Given the description of an element on the screen output the (x, y) to click on. 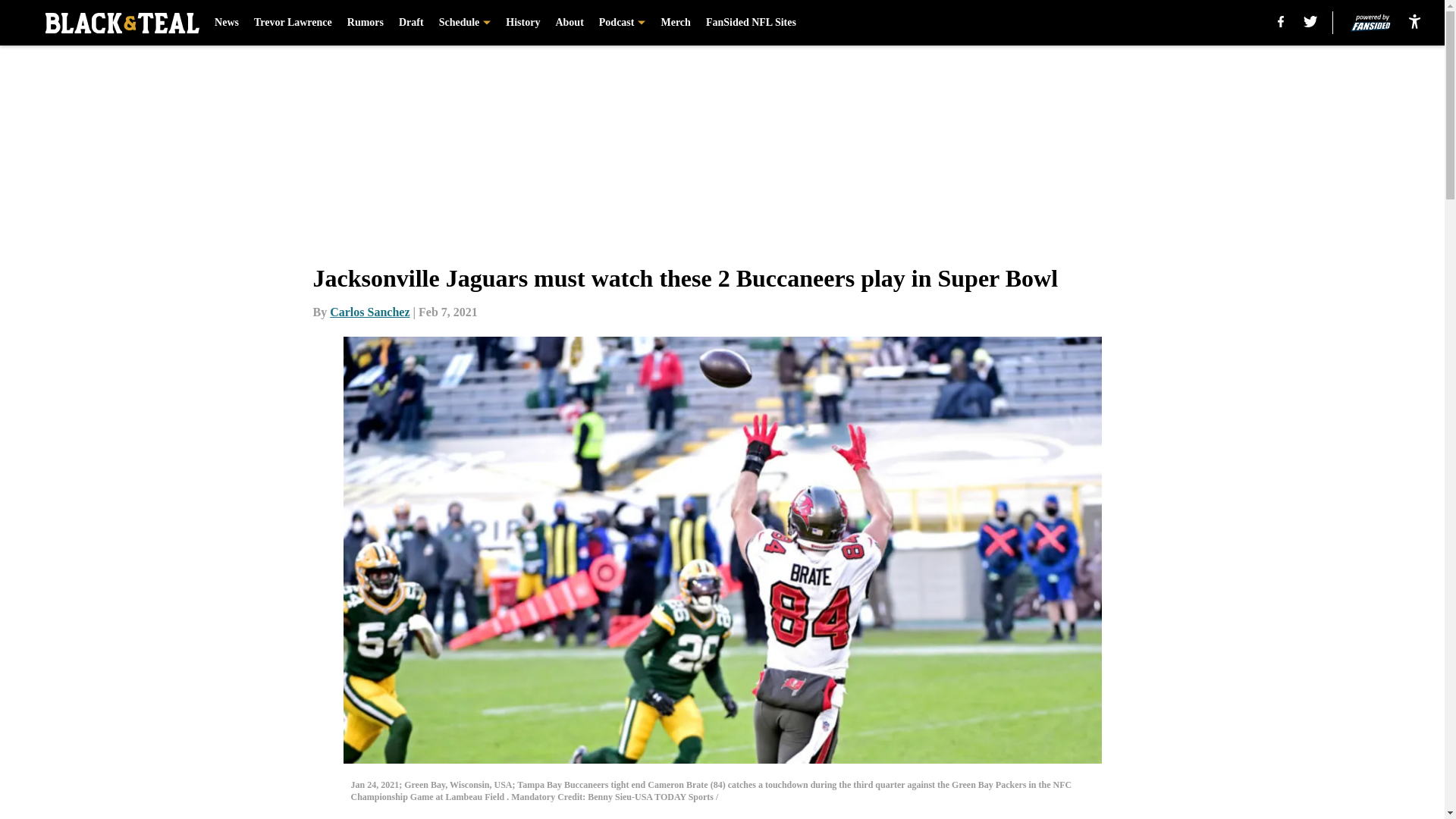
News (226, 22)
Rumors (365, 22)
History (522, 22)
Draft (410, 22)
Trevor Lawrence (292, 22)
About (568, 22)
Carlos Sanchez (369, 311)
Merch (675, 22)
FanSided NFL Sites (751, 22)
